Given the description of an element on the screen output the (x, y) to click on. 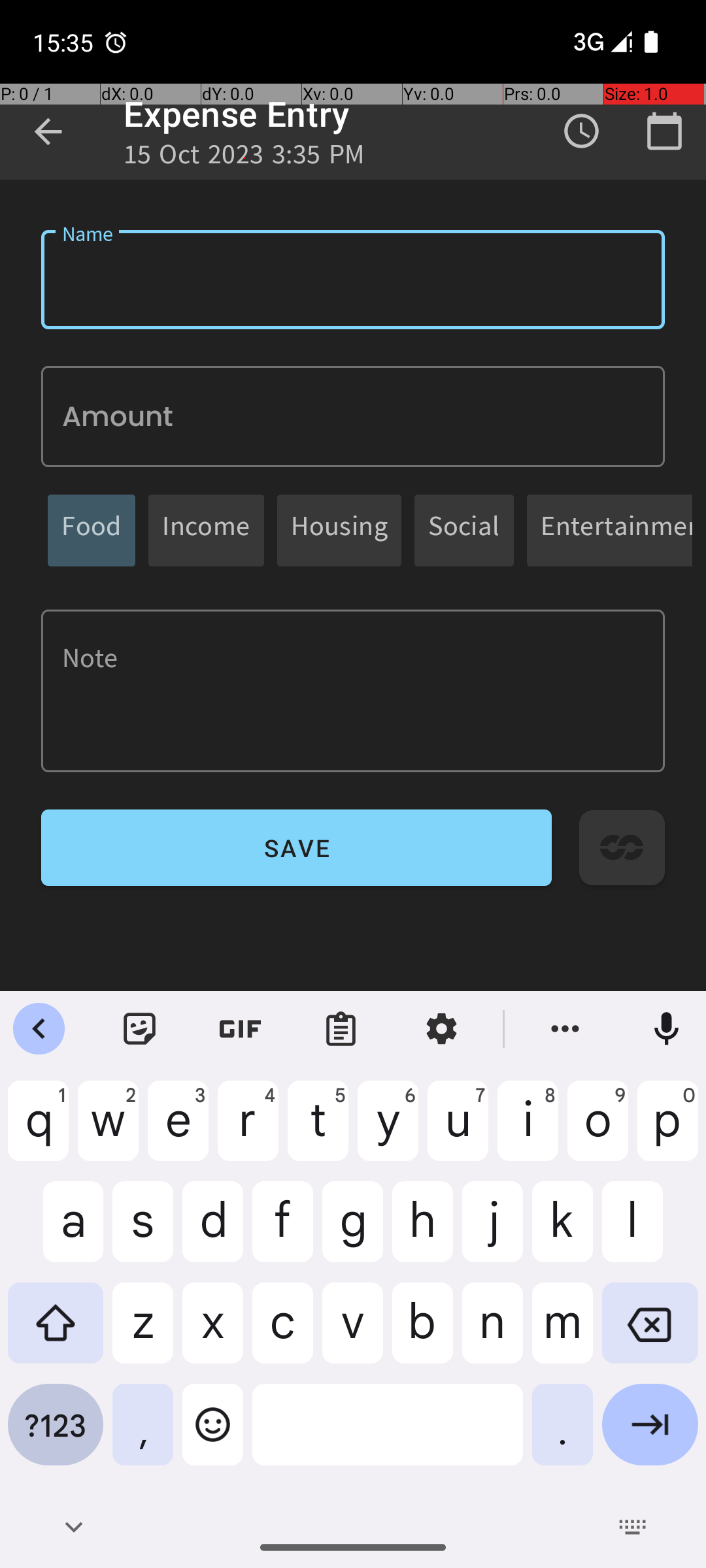
15 Oct 2023 3:35 PM Element type: android.widget.TextView (244, 157)
